Given the description of an element on the screen output the (x, y) to click on. 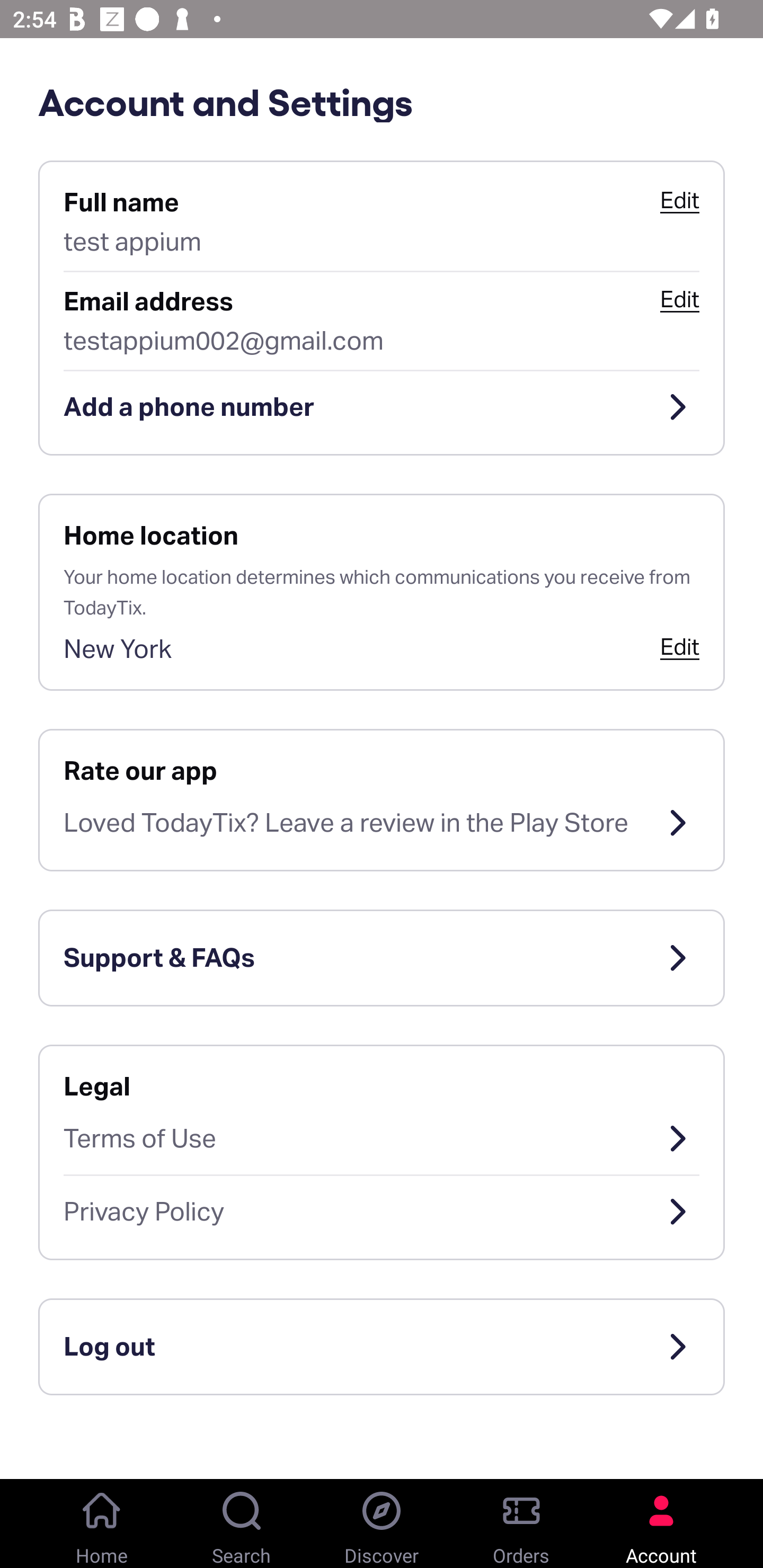
Edit (679, 200)
Edit (679, 299)
Add a phone number (381, 406)
Edit (679, 646)
Loved TodayTix? Leave a review in the Play Store (381, 822)
Support & FAQs (381, 957)
Terms of Use (381, 1137)
Privacy Policy (381, 1211)
Log out (381, 1346)
Home (101, 1523)
Search (241, 1523)
Discover (381, 1523)
Orders (521, 1523)
